Given the description of an element on the screen output the (x, y) to click on. 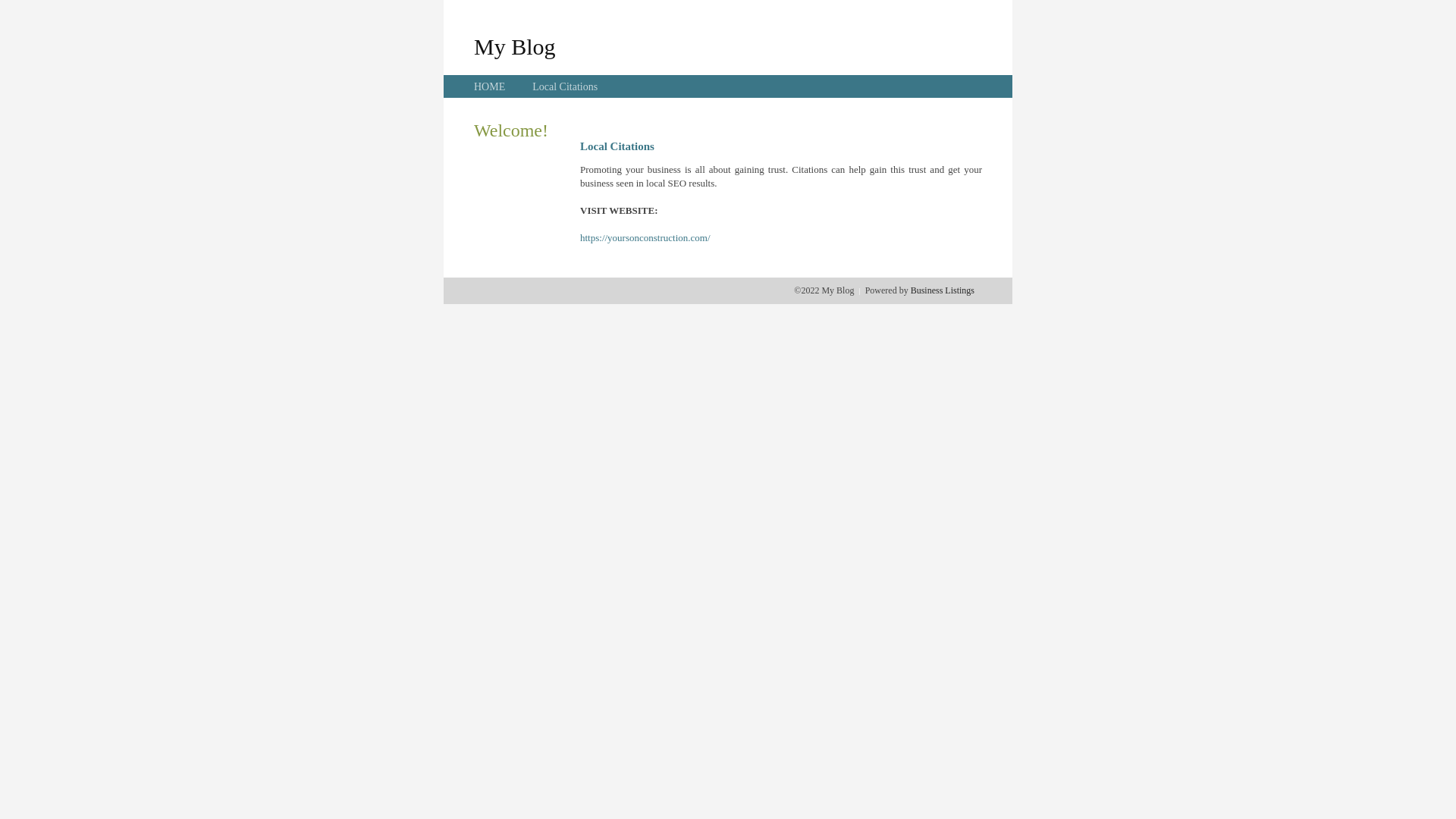
Business Listings Element type: text (942, 290)
https://yoursonconstruction.com/ Element type: text (645, 237)
Local Citations Element type: text (564, 86)
HOME Element type: text (489, 86)
My Blog Element type: text (514, 46)
